Given the description of an element on the screen output the (x, y) to click on. 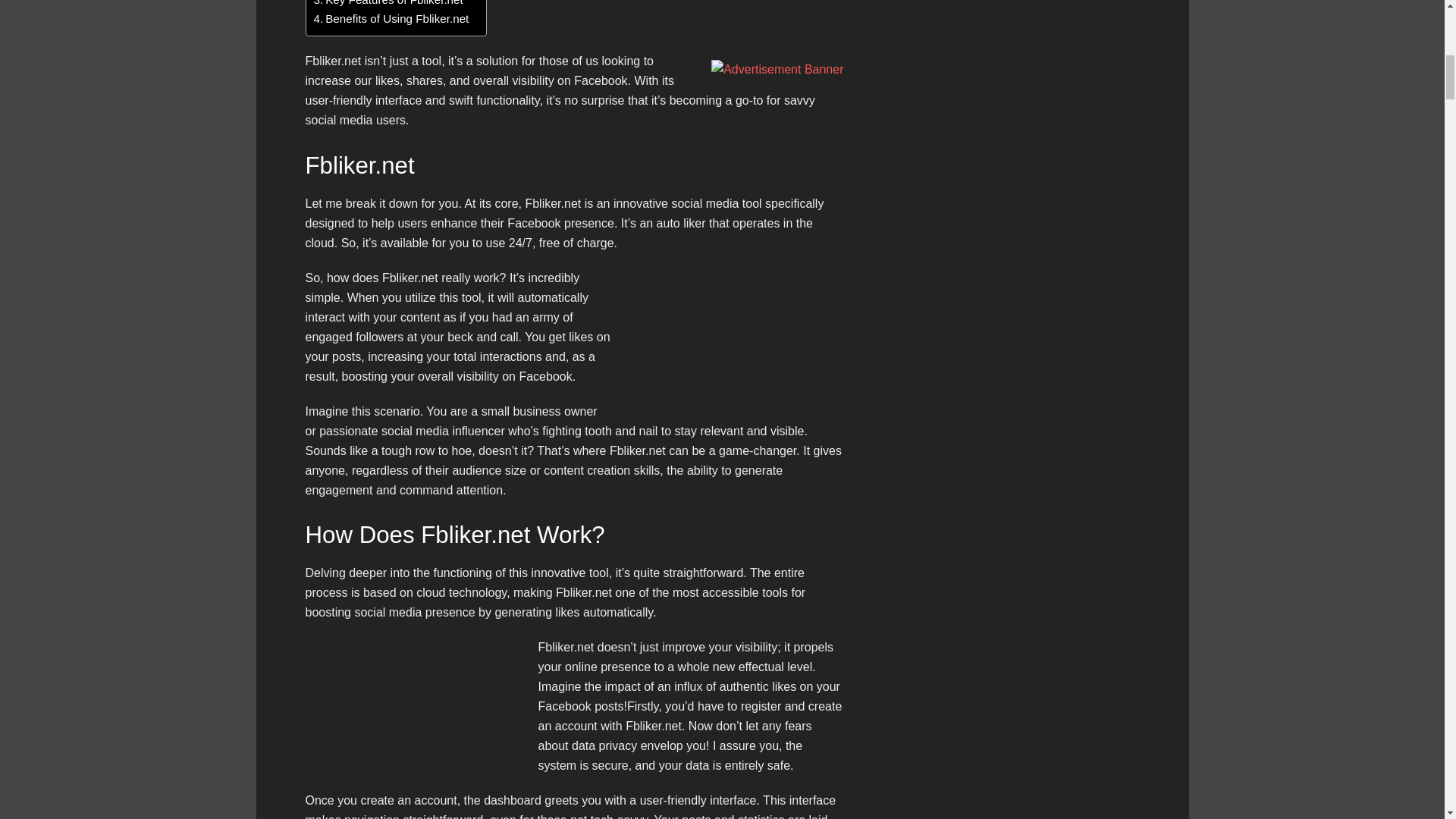
Benefits of Using Fbliker.net (391, 18)
Benefits of Using Fbliker.net (391, 18)
Key Features of Fbliker.net (388, 4)
Key Features of Fbliker.net (388, 4)
